Given the description of an element on the screen output the (x, y) to click on. 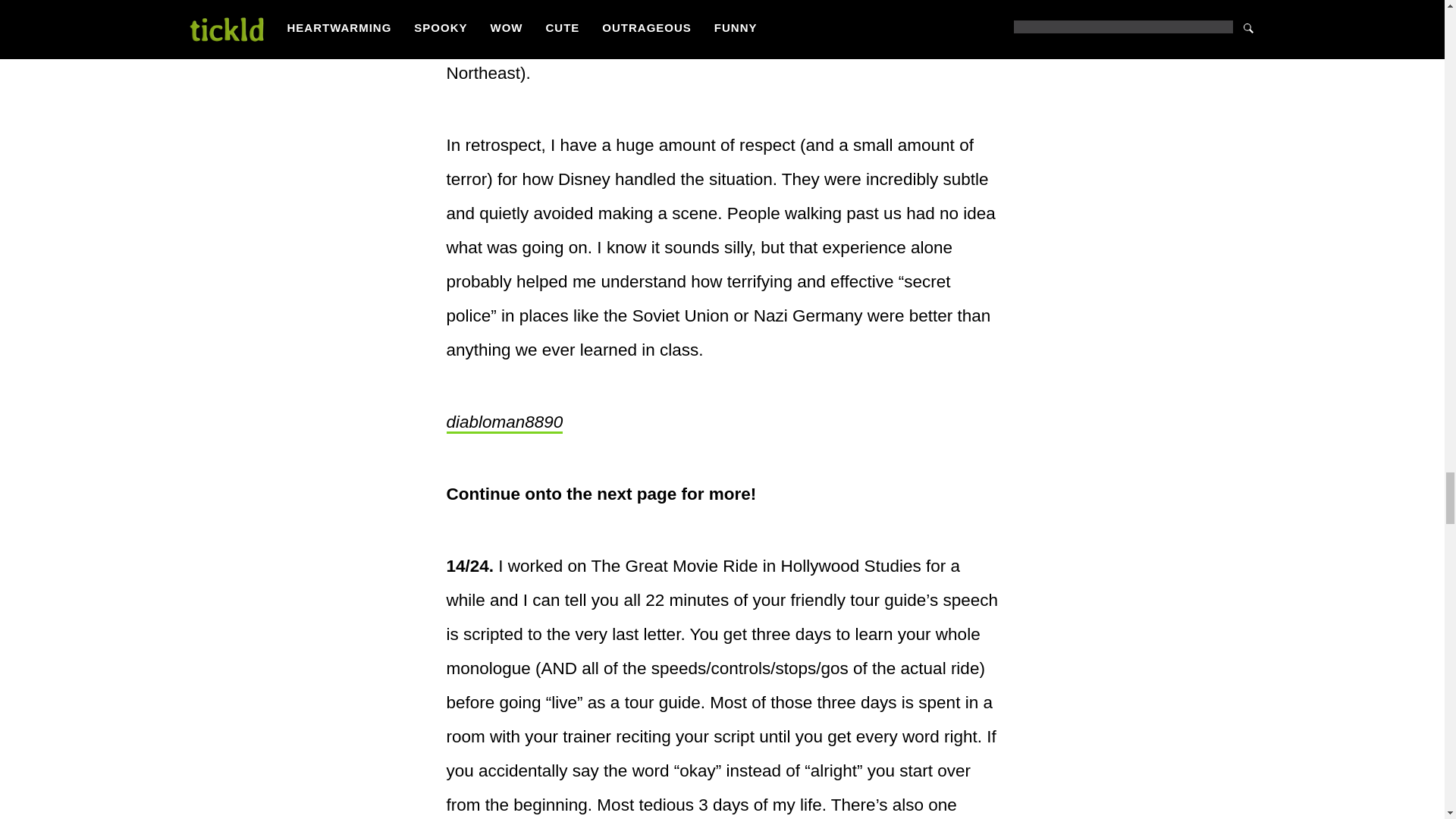
diabloman8890 (503, 423)
